Given the description of an element on the screen output the (x, y) to click on. 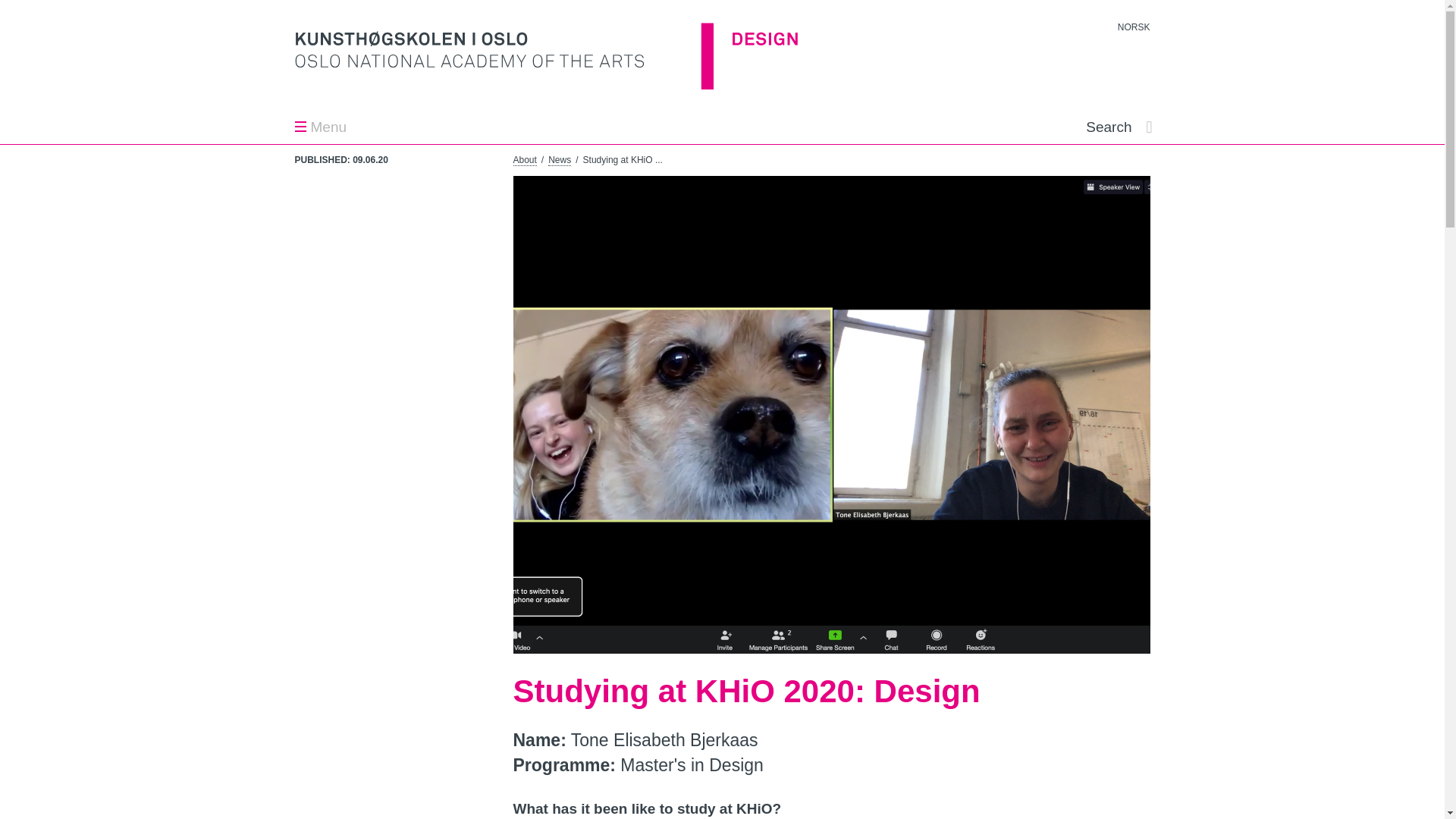
News (559, 160)
About (523, 160)
NORSK (1134, 27)
Menu (320, 127)
